Given the description of an element on the screen output the (x, y) to click on. 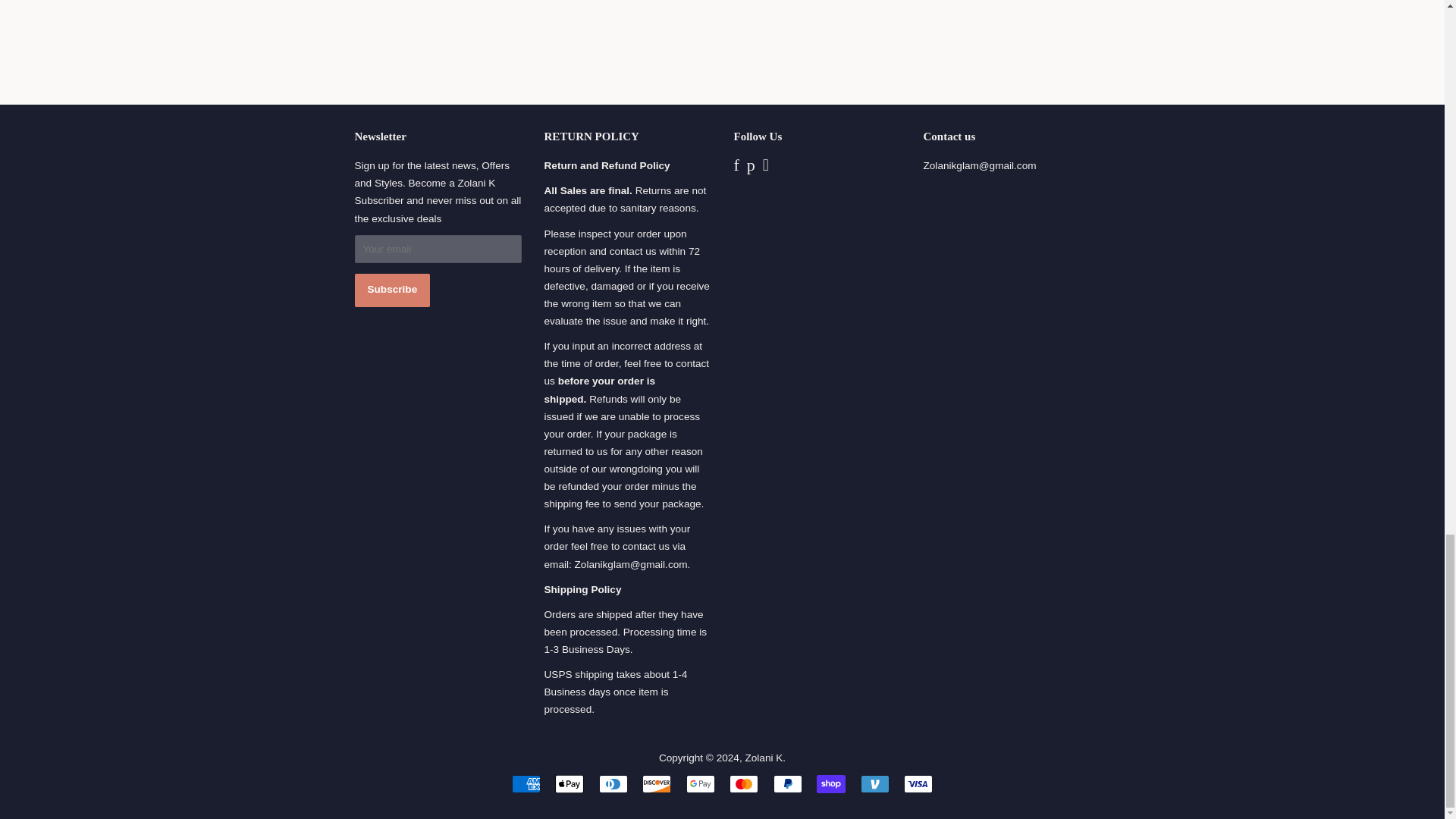
PayPal (787, 783)
Subscribe (392, 290)
Visa (918, 783)
Apple Pay (568, 783)
Venmo (874, 783)
Diners Club (612, 783)
Mastercard (743, 783)
Shop Pay (830, 783)
Discover (656, 783)
Google Pay (699, 783)
Subscribe (392, 290)
Zolani K (763, 757)
American Express (526, 783)
